Given the description of an element on the screen output the (x, y) to click on. 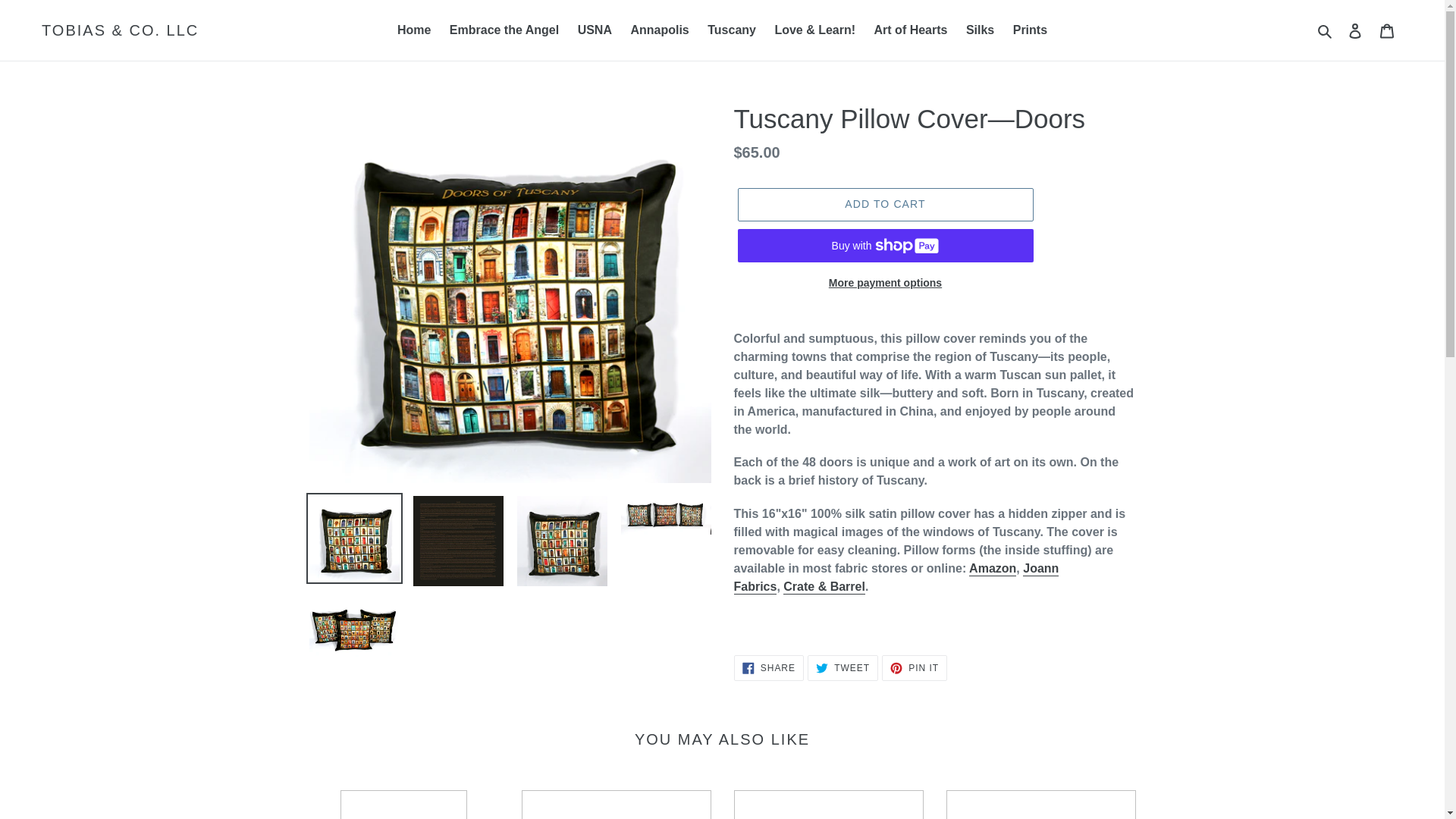
Amazon (992, 568)
Search (1326, 30)
Home (414, 29)
Prints (1030, 29)
Log in (1355, 29)
Annapolis (659, 29)
Art of Hearts (910, 29)
Embrace the Angel (504, 29)
Joann Fabrics (896, 577)
Tuscany (731, 29)
Joann Fabrics (896, 577)
More payment options (884, 282)
ADD TO CART (884, 204)
USNA (595, 29)
Cart (1387, 29)
